Given the description of an element on the screen output the (x, y) to click on. 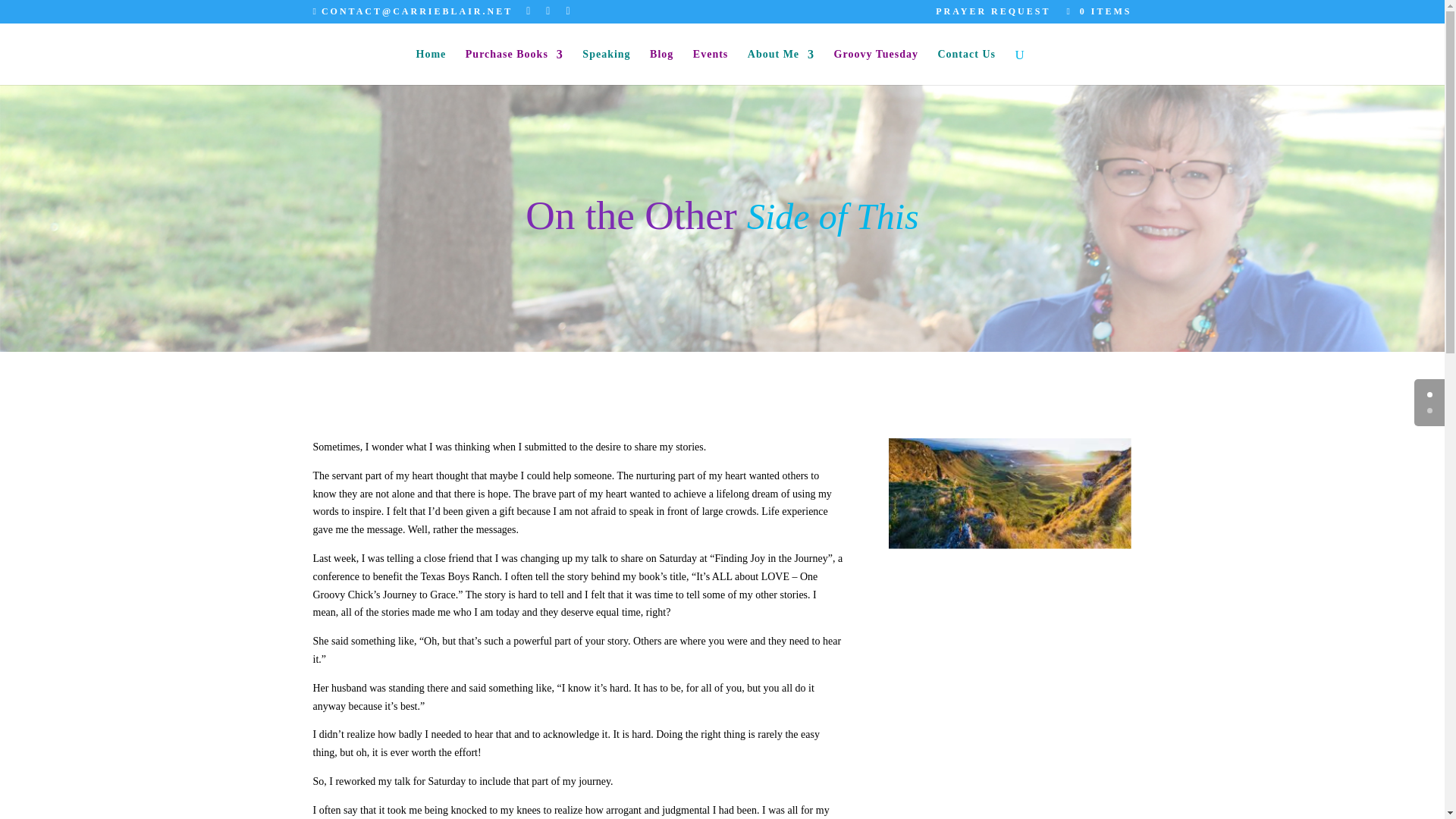
Contact Us (966, 67)
About Me (780, 67)
Speaking (606, 67)
Purchase Books (514, 67)
0 ITEMS (1096, 10)
Events (710, 67)
PRAYER REQUEST (992, 14)
Groovy Tuesday (876, 67)
